Given the description of an element on the screen output the (x, y) to click on. 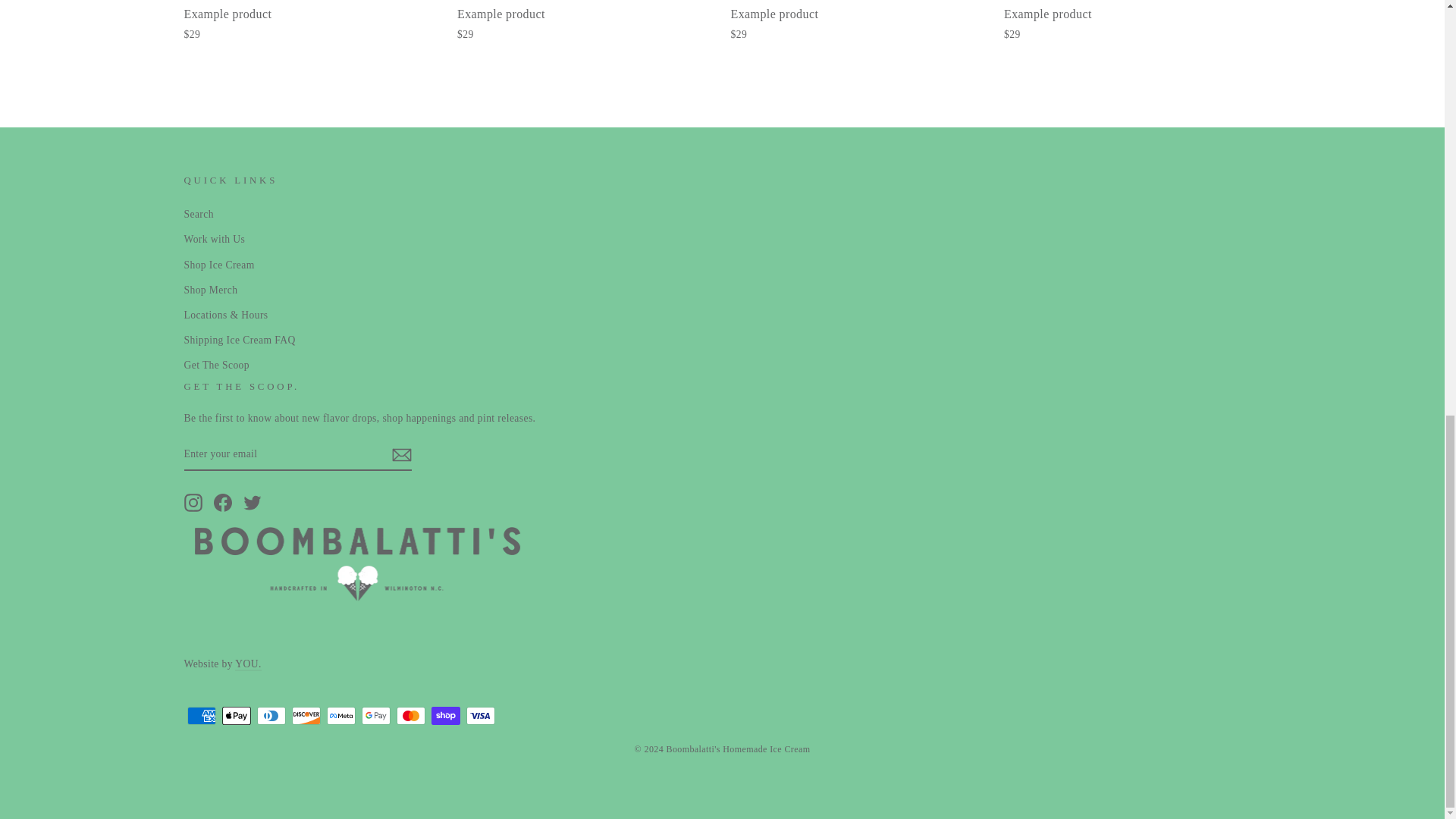
Google Pay (375, 715)
Mastercard (410, 715)
Apple Pay (235, 715)
Discover (305, 715)
Shop Pay (445, 715)
American Express (200, 715)
Boombalatti's Homemade Ice Cream on Twitter (251, 502)
Boombalatti's Homemade Ice Cream on Instagram (192, 502)
Diners Club (270, 715)
Visa (480, 715)
